Given the description of an element on the screen output the (x, y) to click on. 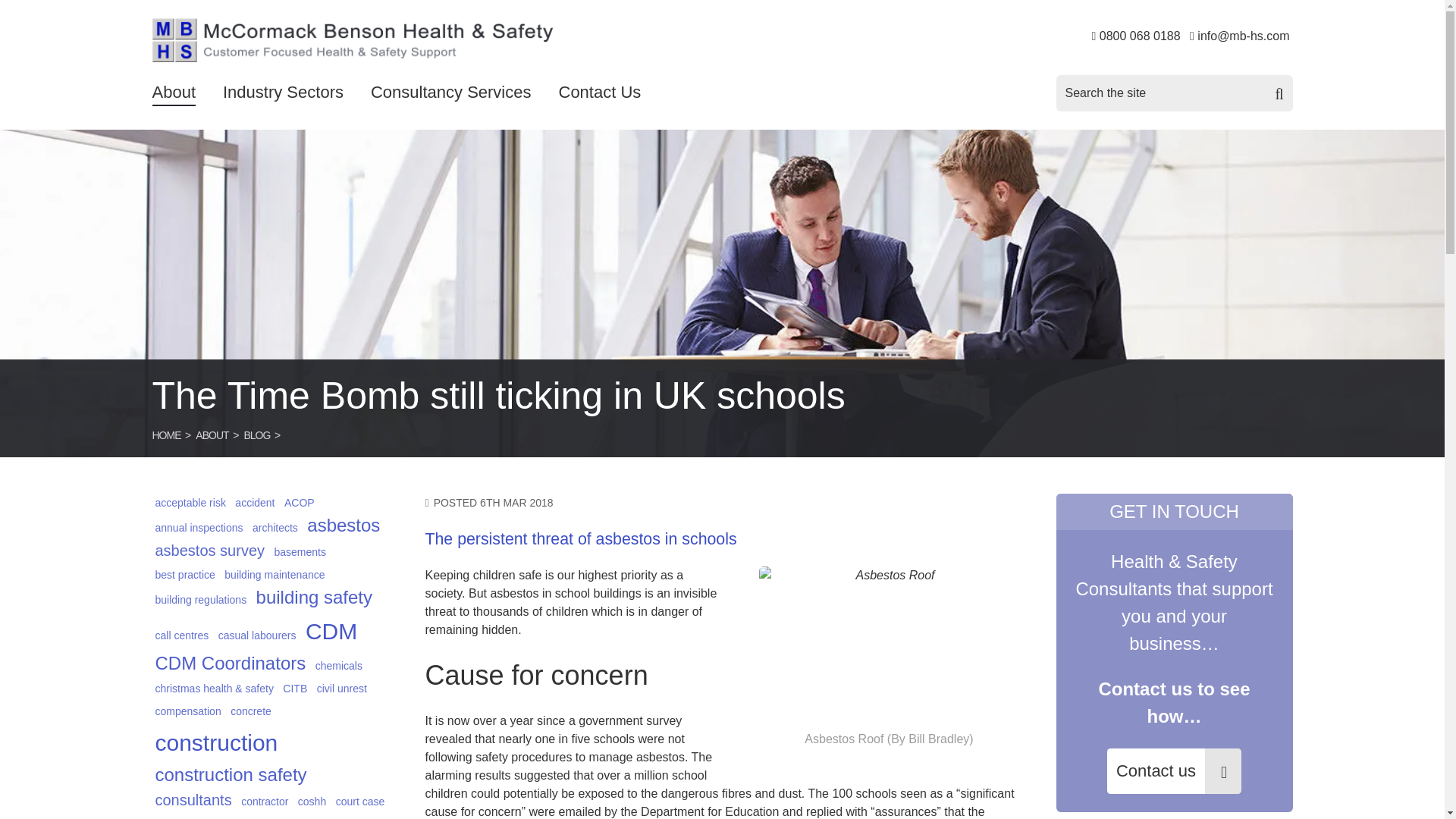
architects (274, 527)
0800 068 0188 (1139, 35)
ABOUT (211, 435)
Industry Sectors (282, 92)
Return to homepage (351, 44)
building maintenance (274, 574)
crackdown (179, 816)
consultants (192, 800)
1 article tagged with basements (298, 551)
ACOP (298, 502)
1 article tagged with accident (254, 502)
5 articles tagged with asbestos survey (209, 550)
HOME (165, 435)
2 articles tagged with building regulations (200, 599)
1 article tagged with building maintenance (274, 574)
